Given the description of an element on the screen output the (x, y) to click on. 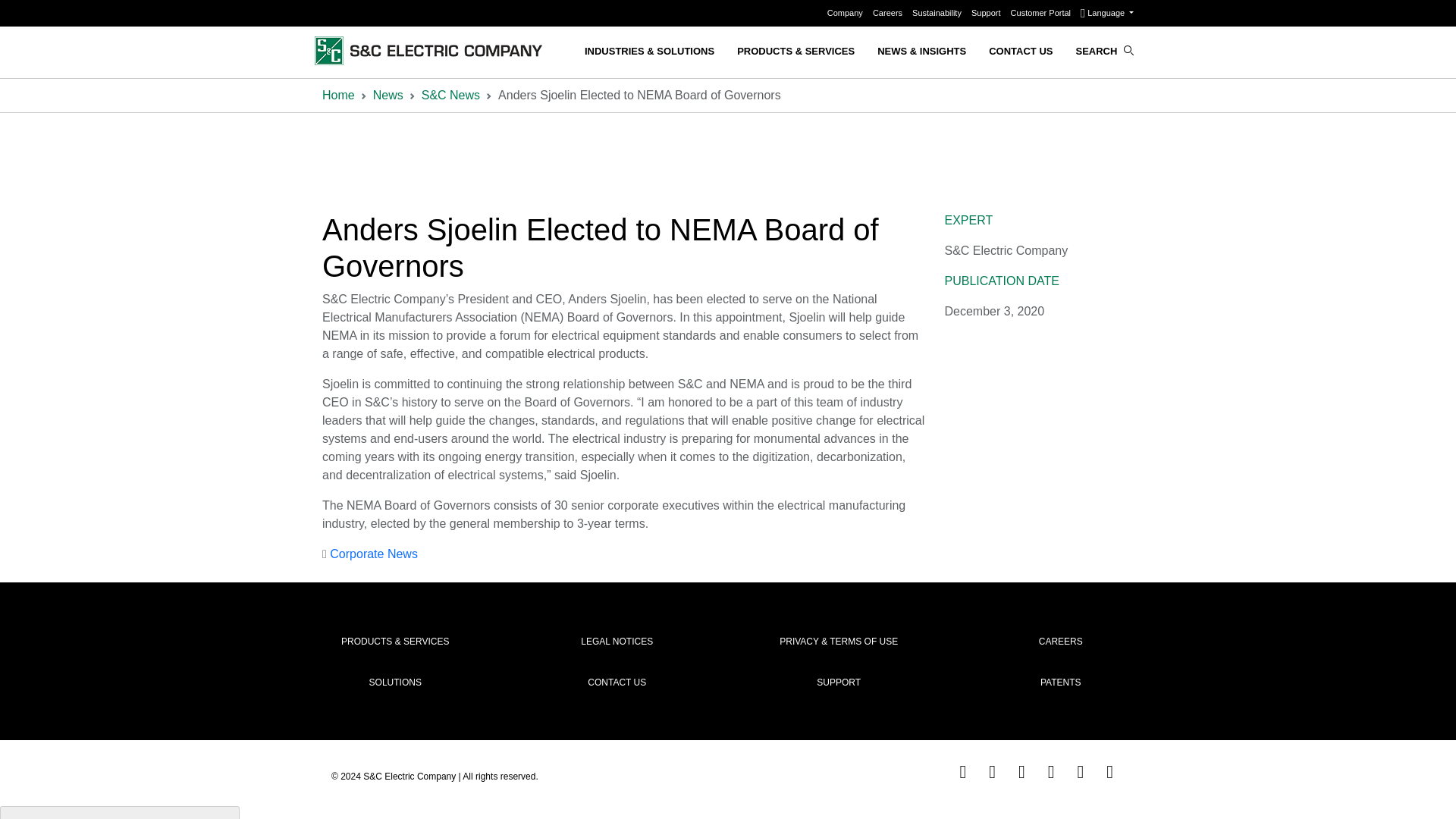
Support (987, 12)
Company (845, 12)
Careers (888, 12)
Language (1107, 12)
Customer Portal (1042, 12)
Sustainability (937, 12)
